Given the description of an element on the screen output the (x, y) to click on. 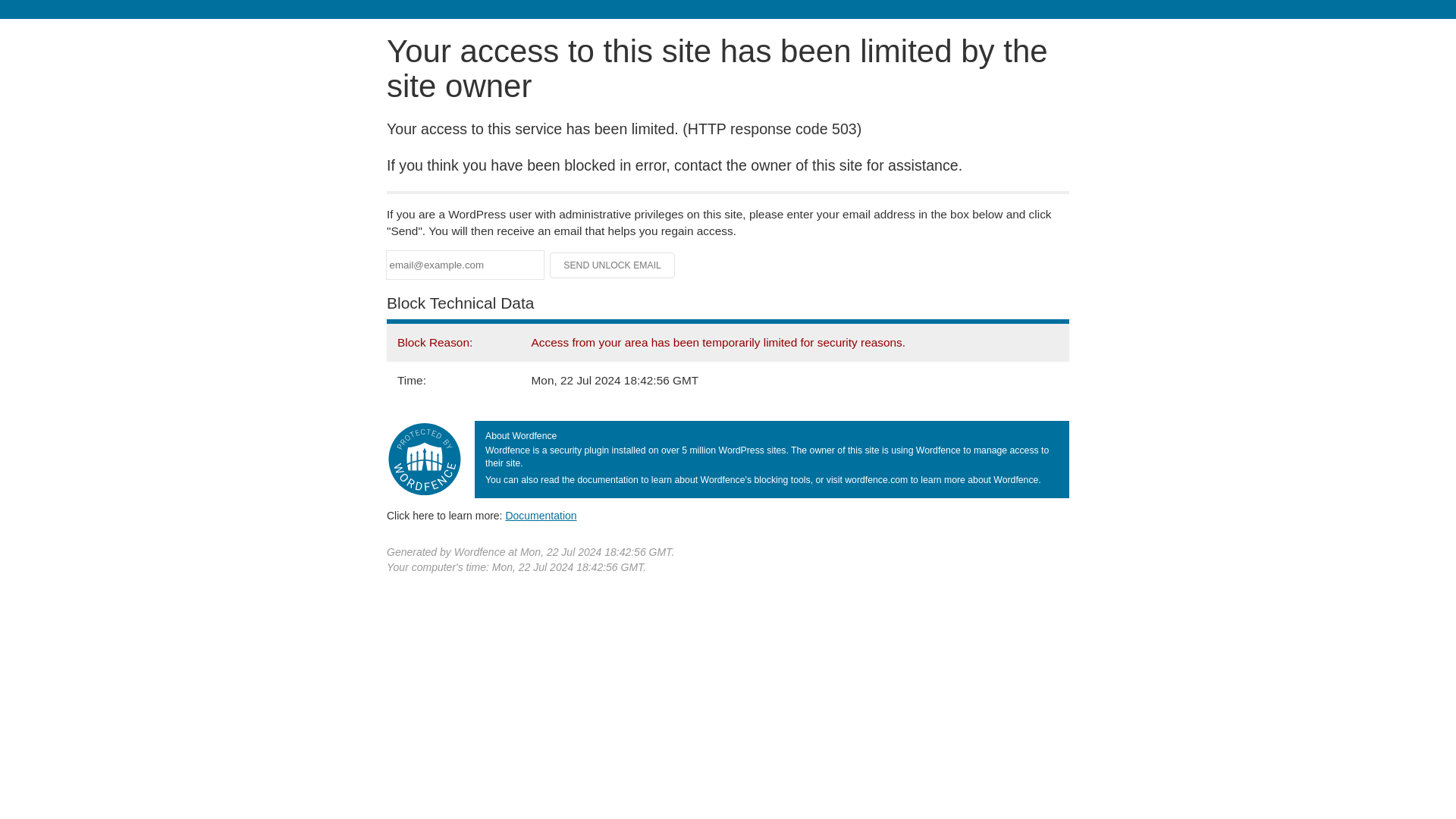
Documentation (540, 515)
Send Unlock Email (612, 265)
Send Unlock Email (612, 265)
